Given the description of an element on the screen output the (x, y) to click on. 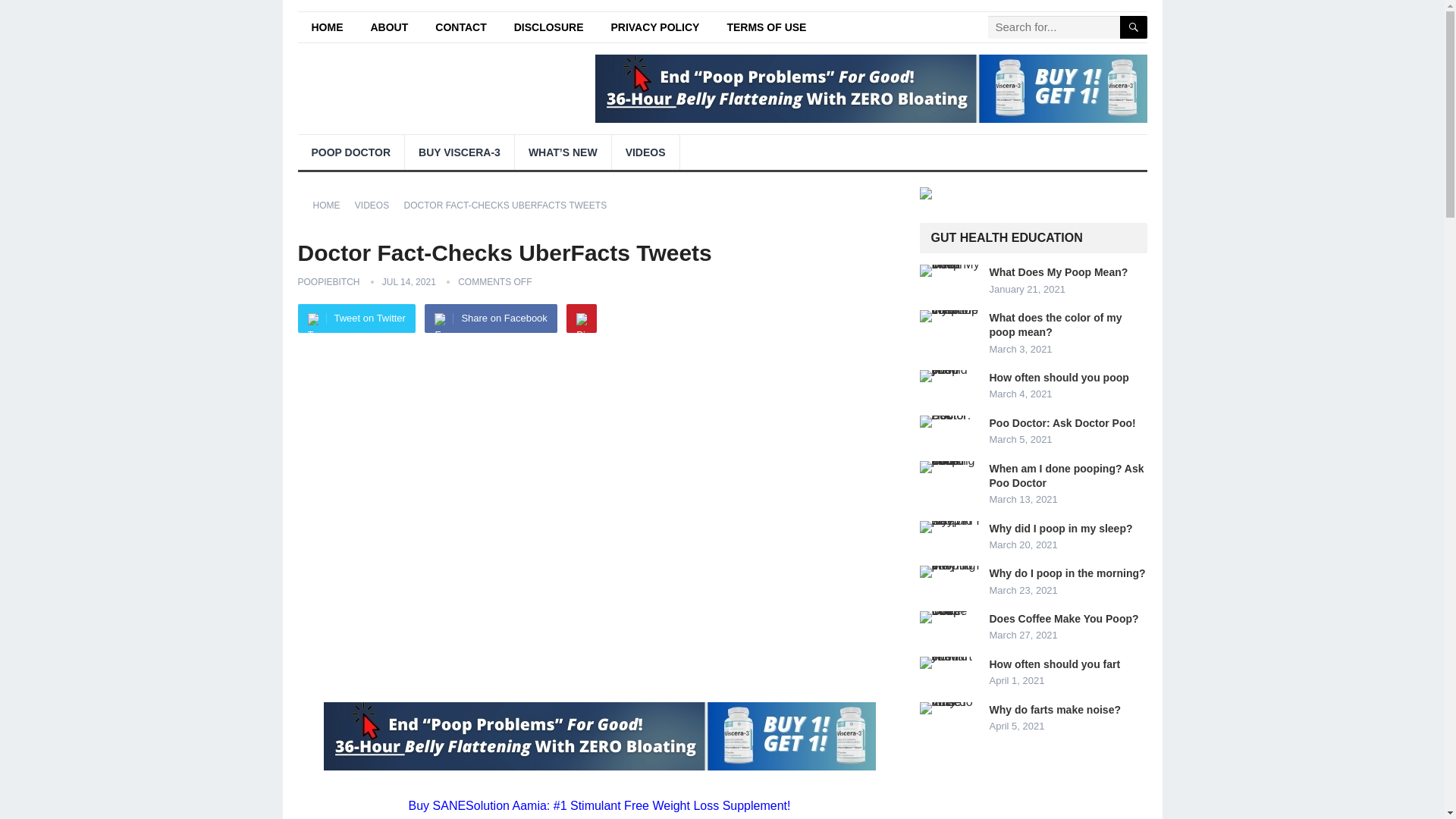
HOME (331, 204)
Why did I poop in my sleep? 18 (948, 526)
Tweet on Twitter (355, 317)
Posts by poopiebitch (328, 281)
VIDEOS (645, 152)
Share on Facebook (490, 317)
When am I done pooping? Ask Poo Doctor 17 (948, 467)
Why do I poop in the morning? 19 (948, 571)
Does Coffee Make You Poop? 20 (948, 616)
How often should you poop 15 (948, 376)
View all posts in Videos (376, 204)
HOME (326, 27)
VIDEOS (376, 204)
Poo Doctor: Ask Doctor Poo! 16 (948, 421)
Pinterest (581, 317)
